Given the description of an element on the screen output the (x, y) to click on. 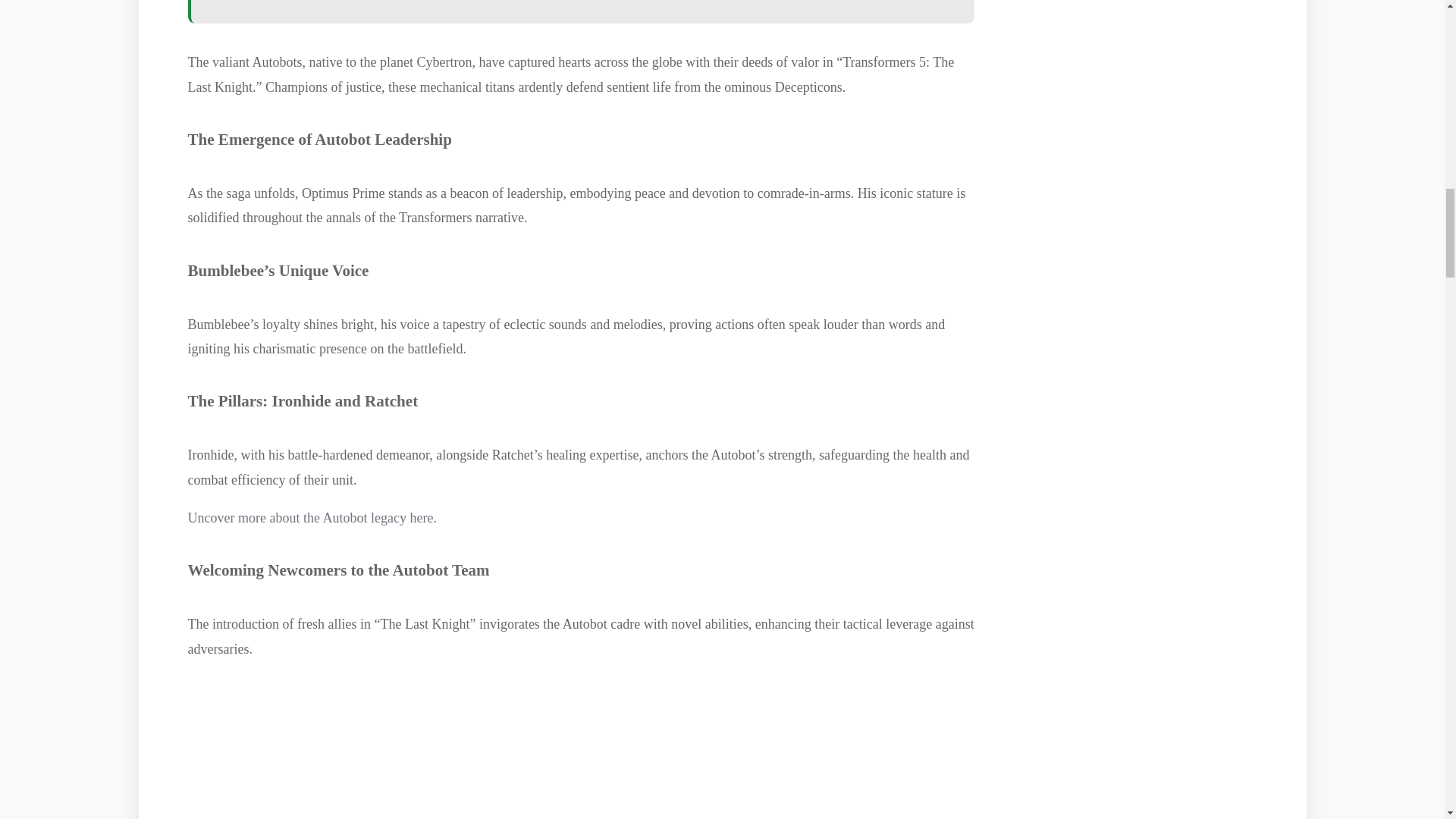
Uncover more about the Autobot legacy here. (311, 517)
